Given the description of an element on the screen output the (x, y) to click on. 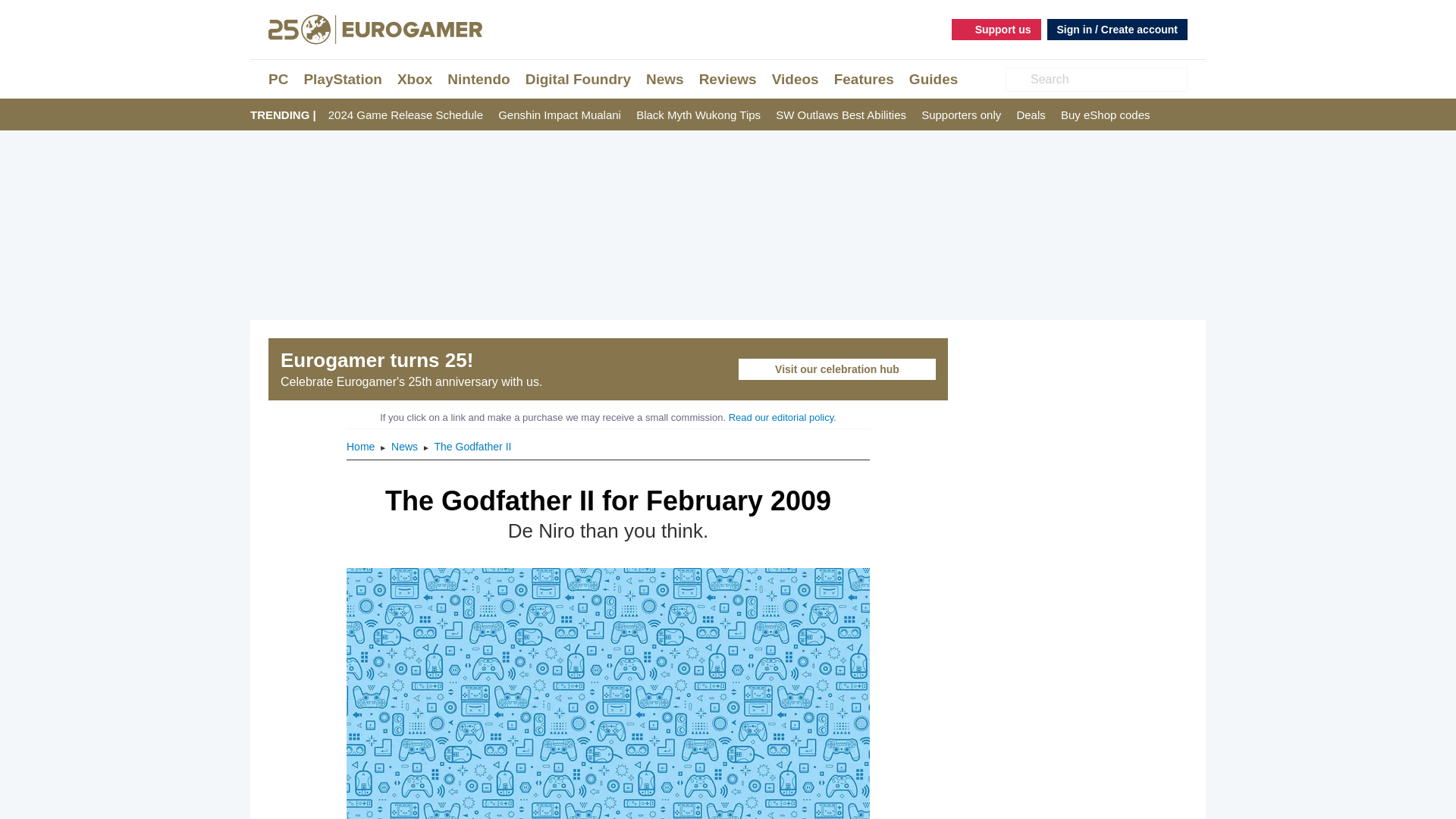
Support us (996, 29)
News (665, 78)
The Godfather II (472, 446)
2024 Game Release Schedule (406, 114)
PlayStation (341, 78)
Black Myth Wukong Tips (698, 114)
Features (863, 78)
SW Outlaws Best Abilities (840, 114)
Supporters only (961, 114)
Nintendo (477, 78)
